Given the description of an element on the screen output the (x, y) to click on. 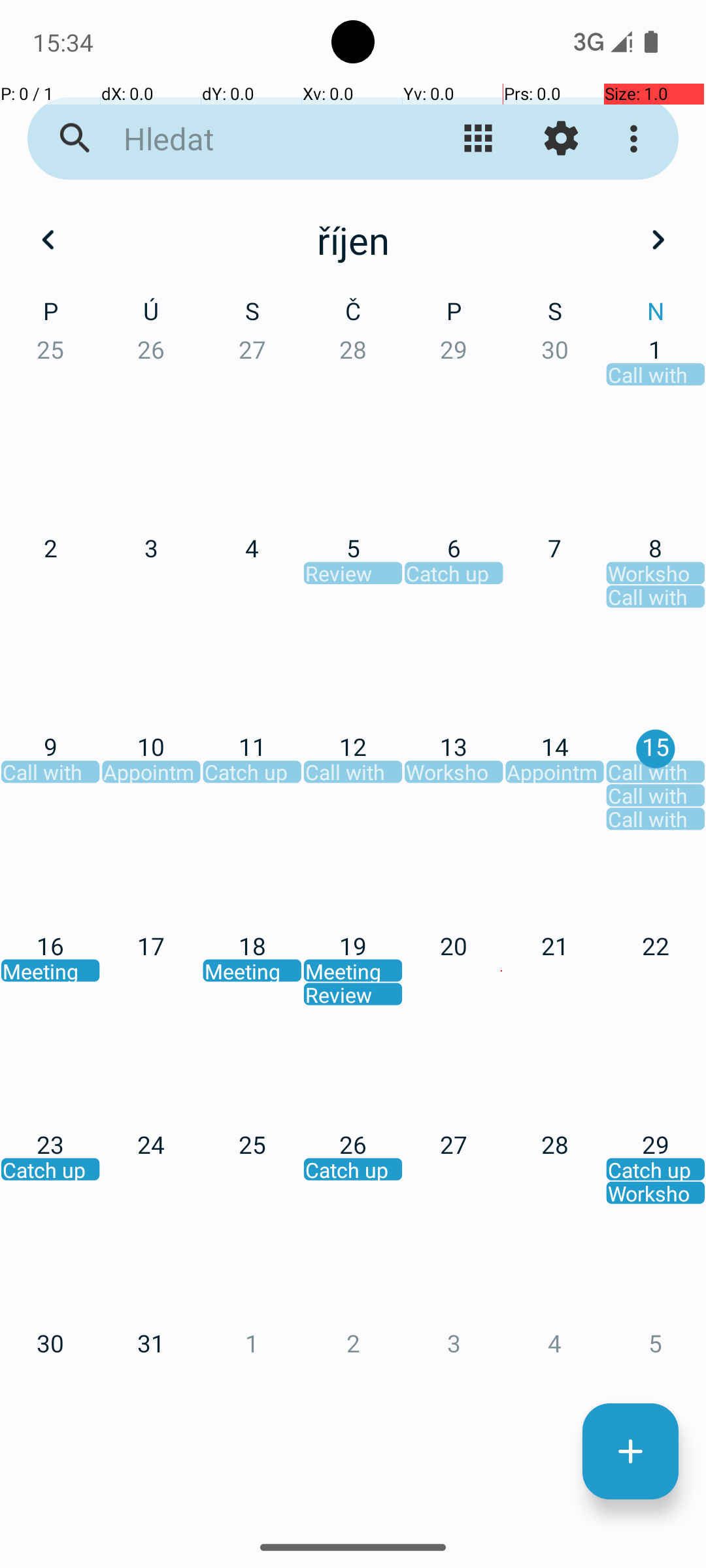
říjen Element type: android.widget.TextView (352, 239)
